Given the description of an element on the screen output the (x, y) to click on. 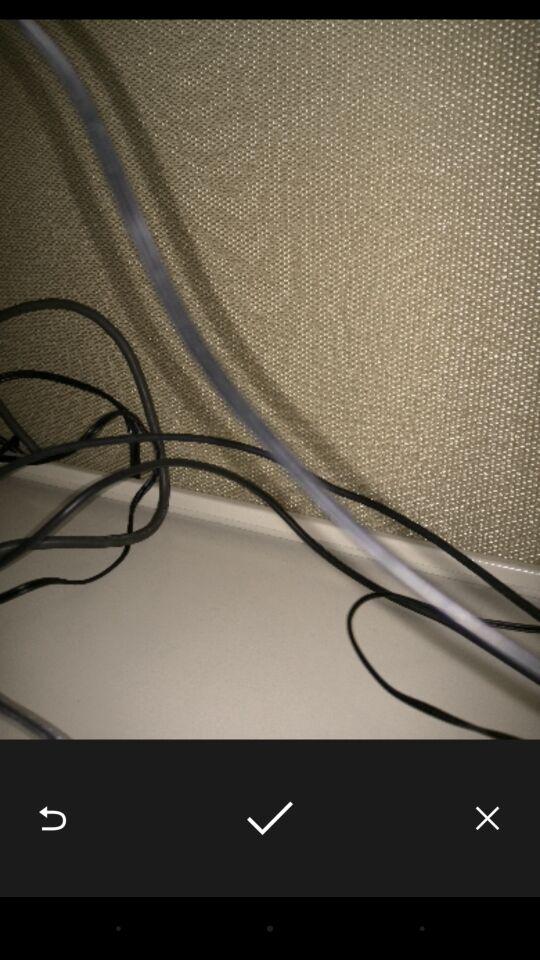
choose icon at the bottom right corner (487, 817)
